Given the description of an element on the screen output the (x, y) to click on. 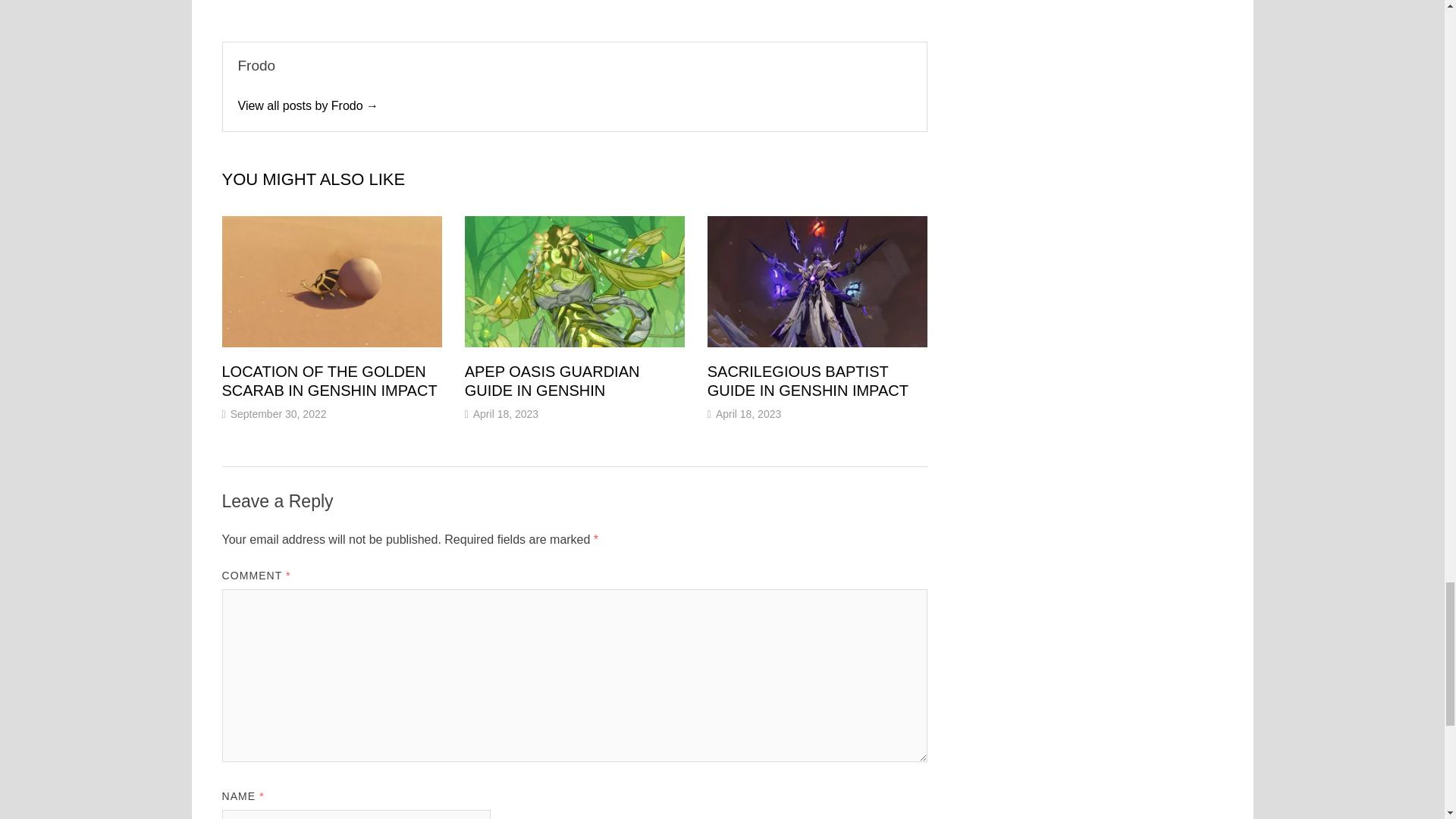
April 18, 2023 (505, 413)
APEP OASIS GUARDIAN GUIDE IN GENSHIN (552, 380)
LOCATION OF THE GOLDEN SCARAB IN GENSHIN IMPACT (328, 380)
APEP OASIS GUARDIAN GUIDE IN GENSHIN (552, 380)
LOCATION OF THE GOLDEN SCARAB IN GENSHIN IMPACT (328, 380)
SACRILEGIOUS BAPTIST GUIDE IN GENSHIN IMPACT (807, 380)
April 18, 2023 (748, 413)
SACRILEGIOUS BAPTIST GUIDE IN GENSHIN IMPACT (807, 380)
Frodo (308, 105)
September 30, 2022 (278, 413)
